Given the description of an element on the screen output the (x, y) to click on. 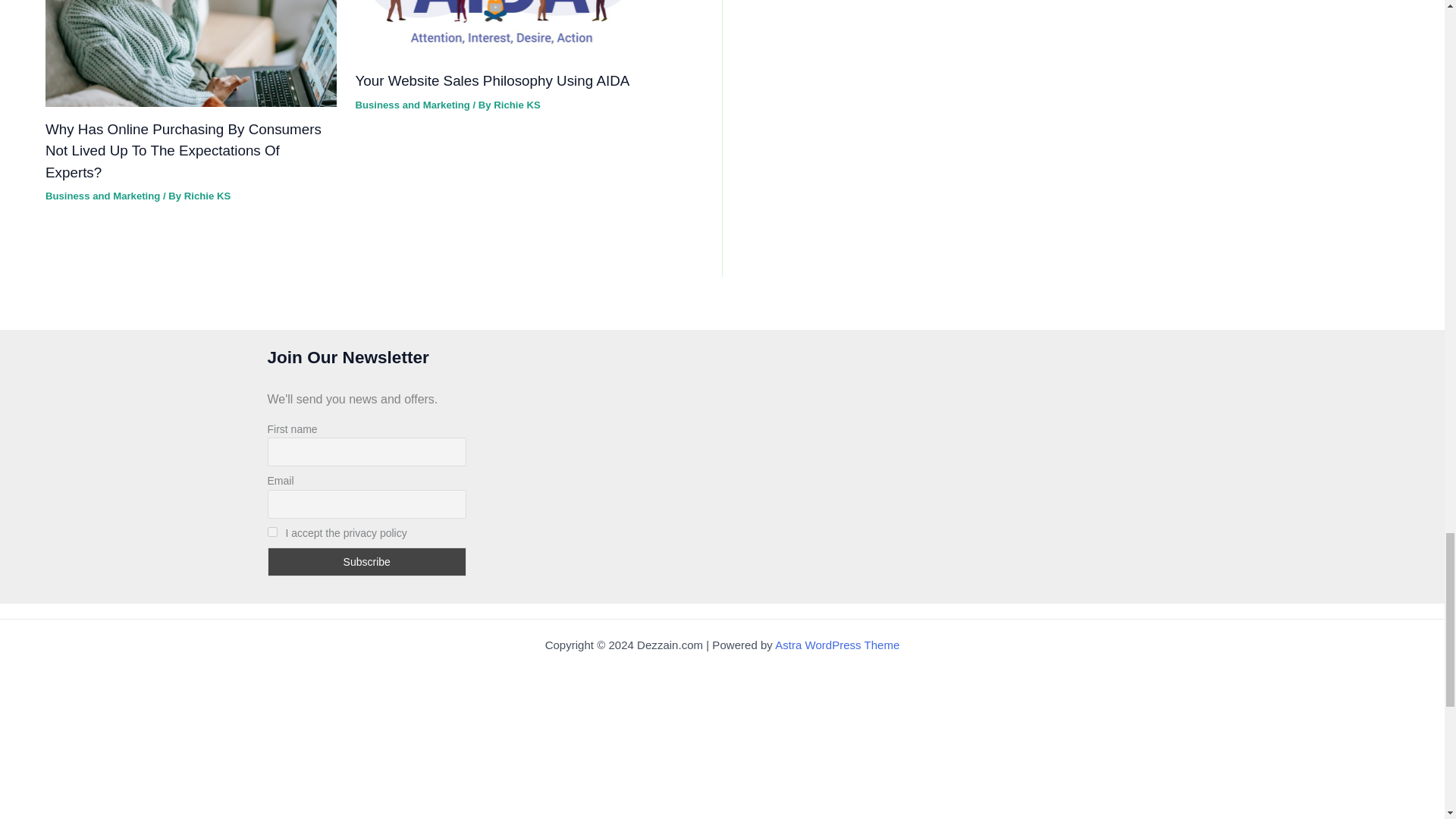
on (271, 532)
Richie KS (207, 195)
Subscribe (365, 561)
View all posts by Richie KS (207, 195)
Business and Marketing (102, 195)
View all posts by Richie KS (516, 104)
